Given the description of an element on the screen output the (x, y) to click on. 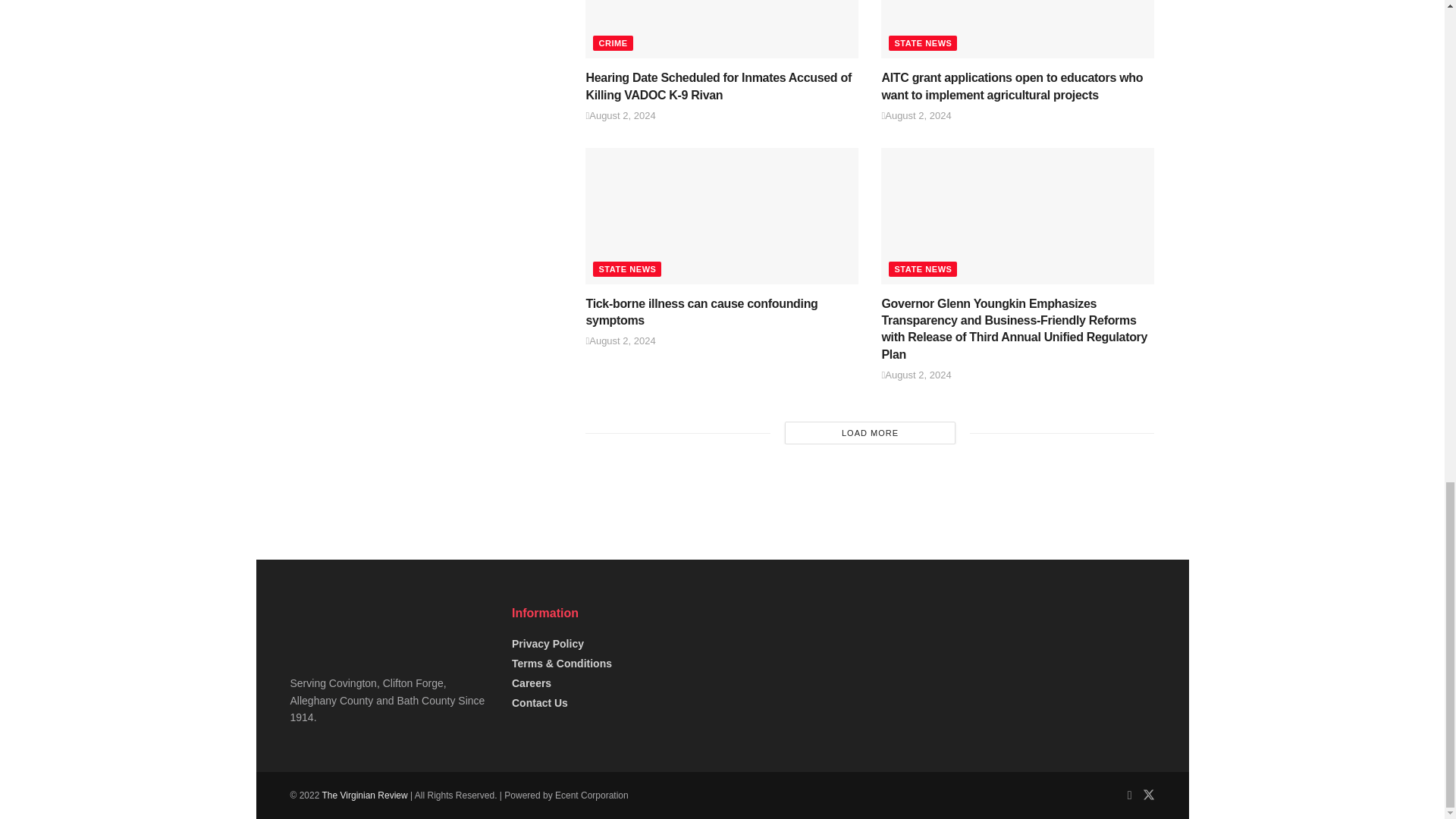
The Virginian Review (364, 795)
